Given the description of an element on the screen output the (x, y) to click on. 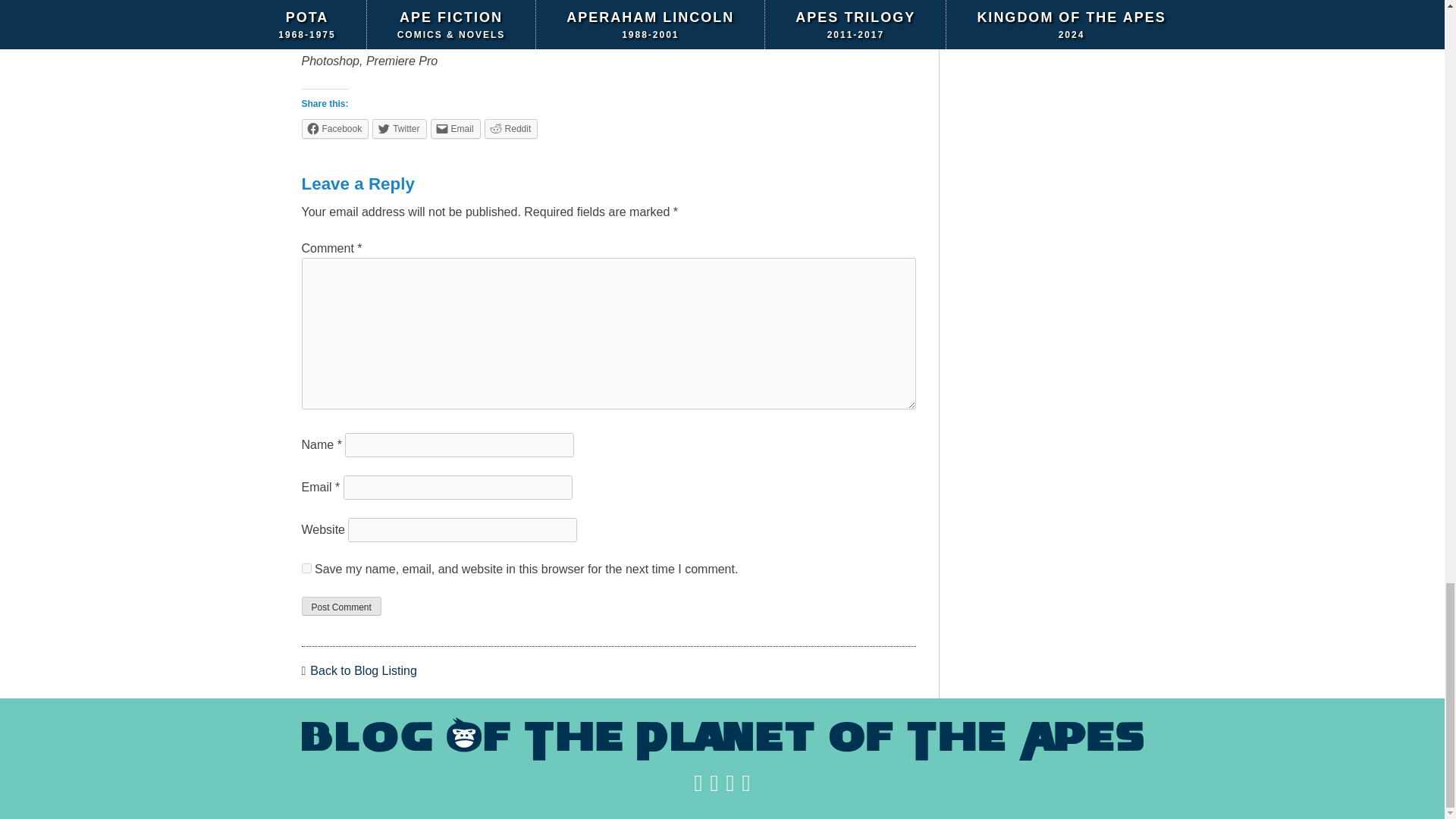
Check out the full storyboard for the project here. (444, 6)
Facebook (335, 127)
Twitter (399, 127)
Click to share on Reddit (511, 127)
Click to share on Facebook (335, 127)
Click to share on Twitter (399, 127)
Post Comment (341, 605)
Click to email a link to a friend (455, 127)
yes (306, 567)
Back to Blog Listing (358, 670)
